Given the description of an element on the screen output the (x, y) to click on. 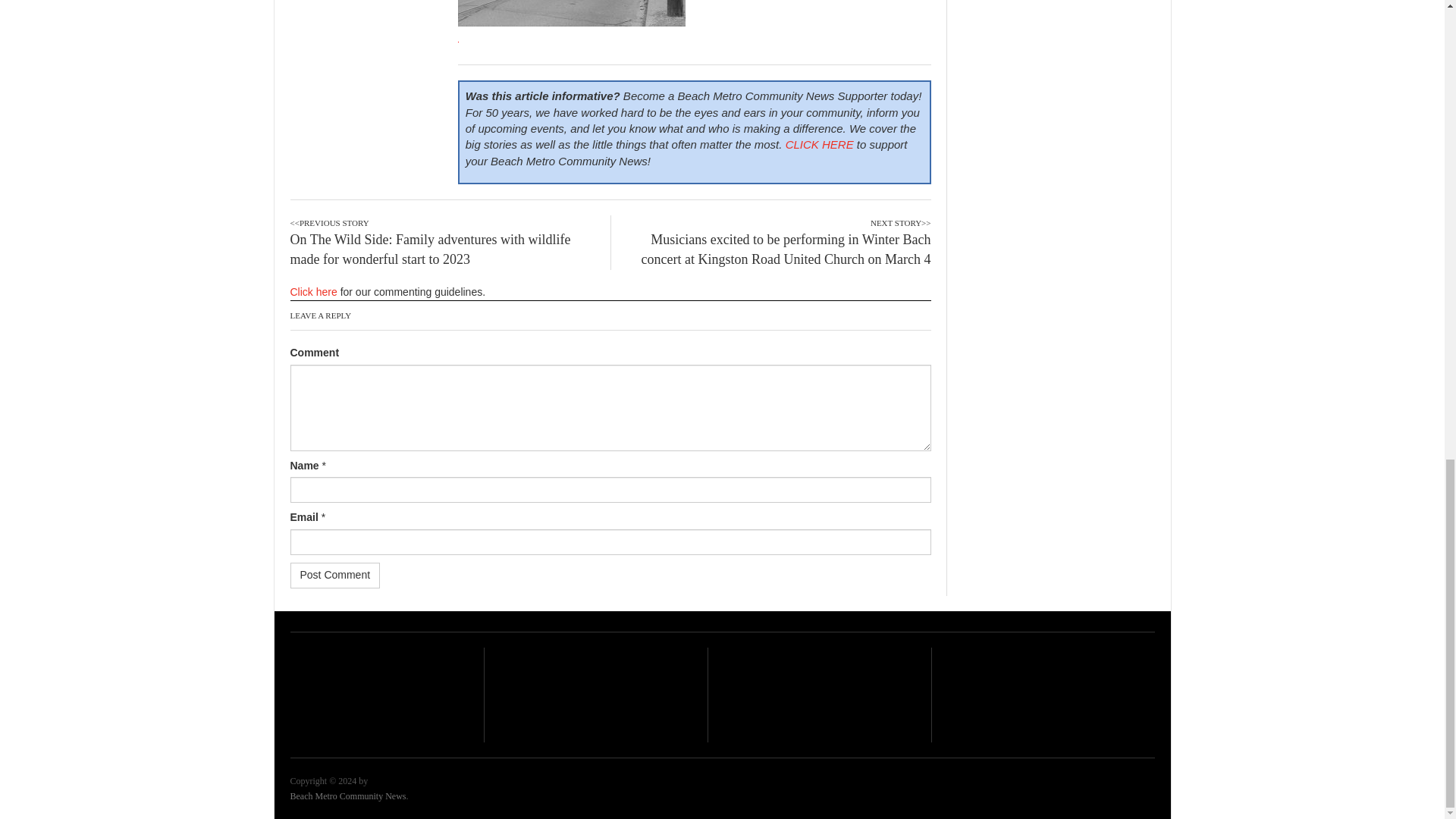
Post Comment (334, 575)
